Given the description of an element on the screen output the (x, y) to click on. 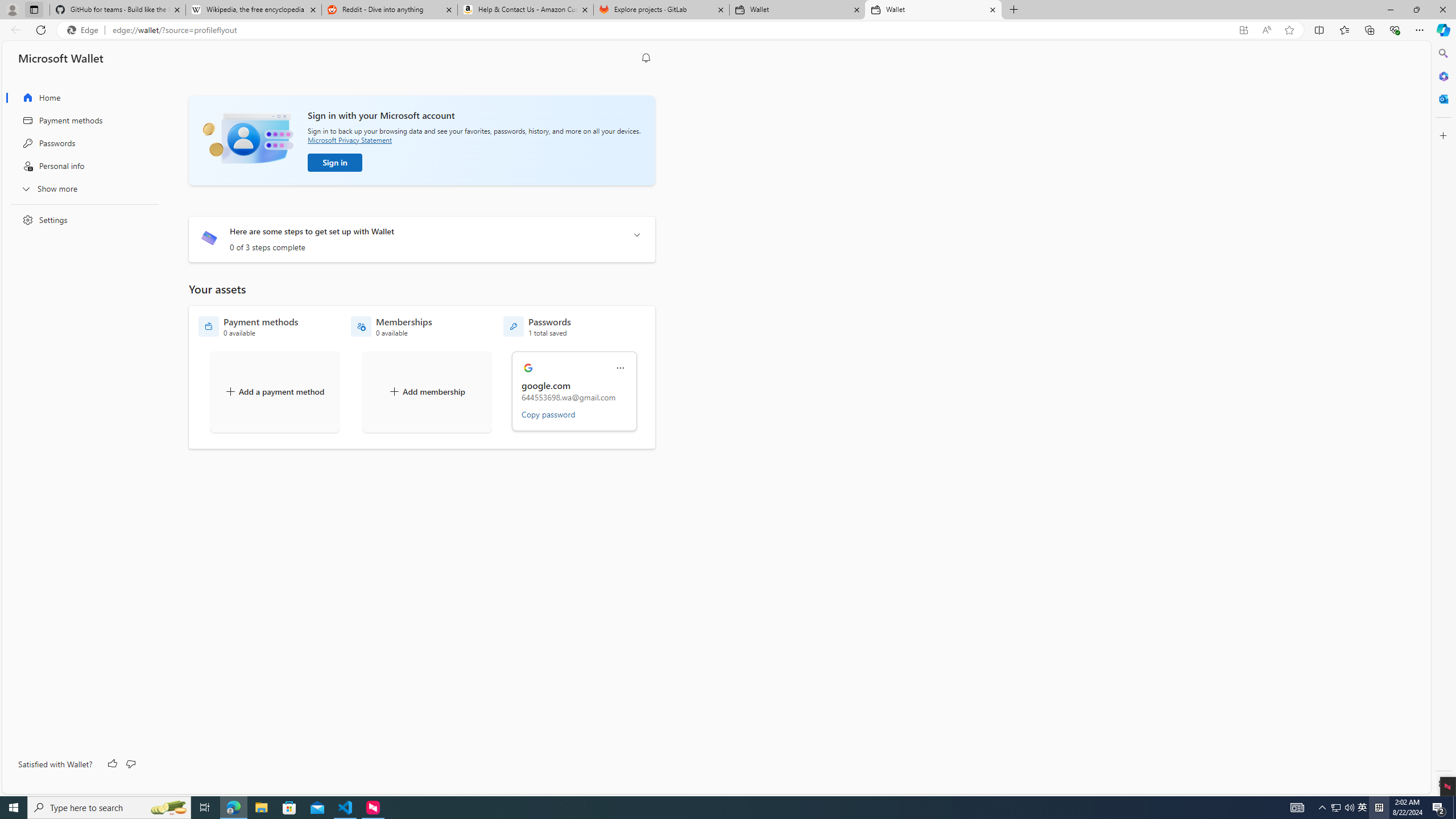
Show more (81, 188)
Payment methods - 0 available (248, 326)
Personal info (81, 165)
